Given the description of an element on the screen output the (x, y) to click on. 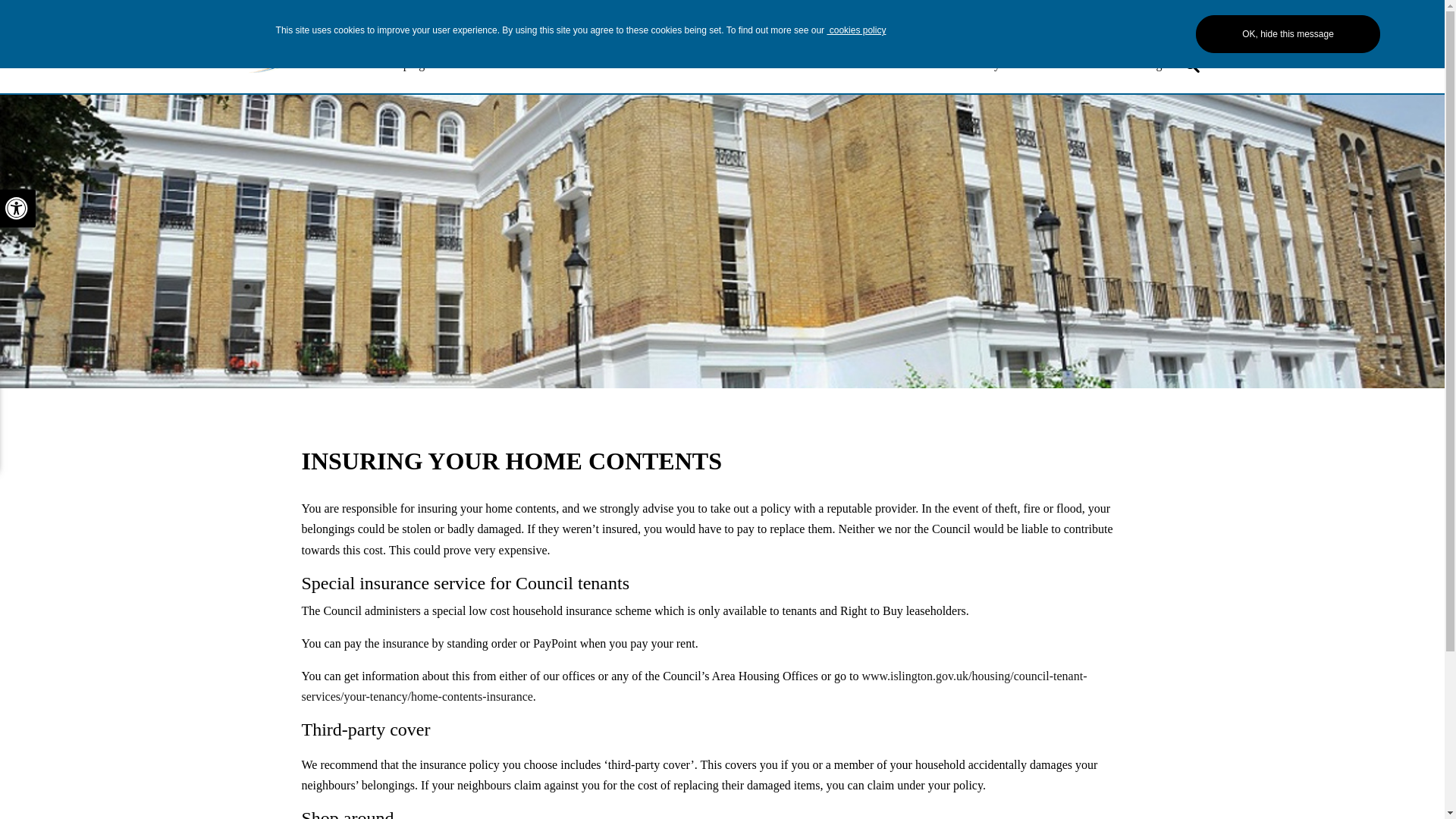
OK, hide this message (1287, 34)
Go to Homepage (282, 45)
Leaseholders (695, 63)
Keeping You Safe (427, 63)
Publications (518, 63)
Tenants (628, 63)
